Given the description of an element on the screen output the (x, y) to click on. 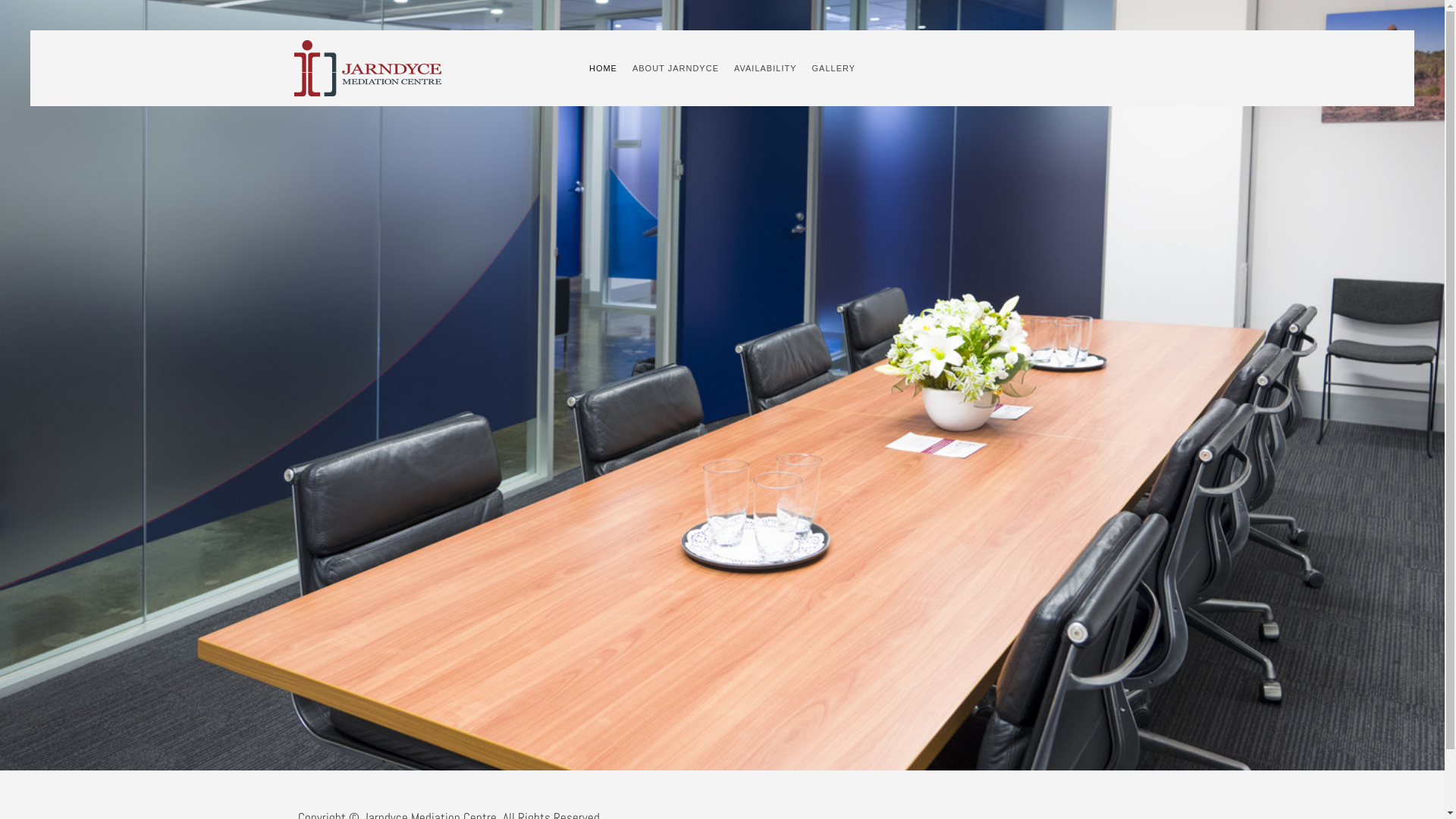
AVAILABILITY Element type: text (765, 68)
GALLERY Element type: text (832, 68)
HOME Element type: text (602, 68)
ABOUT JARNDYCE Element type: text (675, 68)
